Given the description of an element on the screen output the (x, y) to click on. 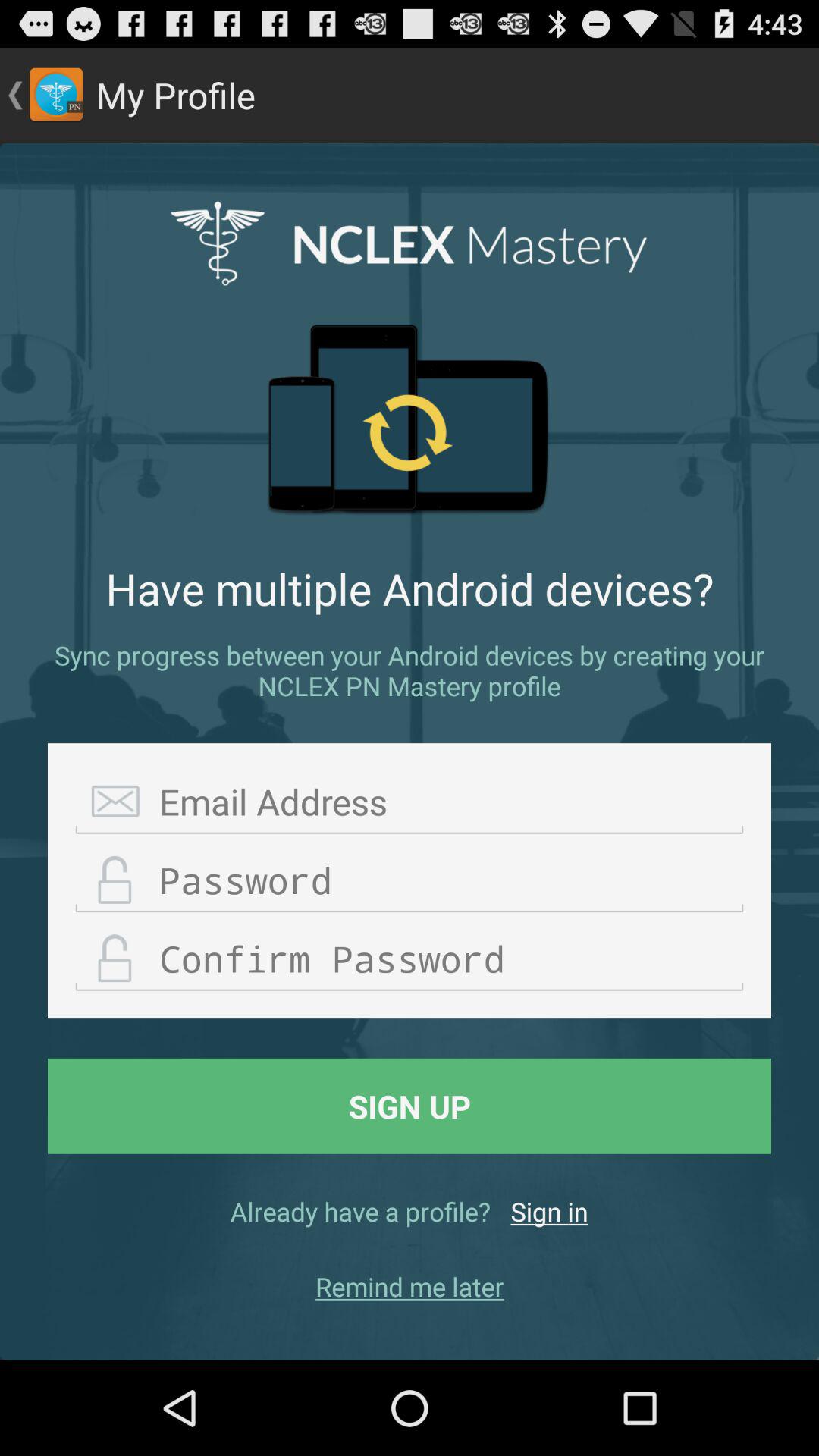
click item below the sign up button (549, 1211)
